Given the description of an element on the screen output the (x, y) to click on. 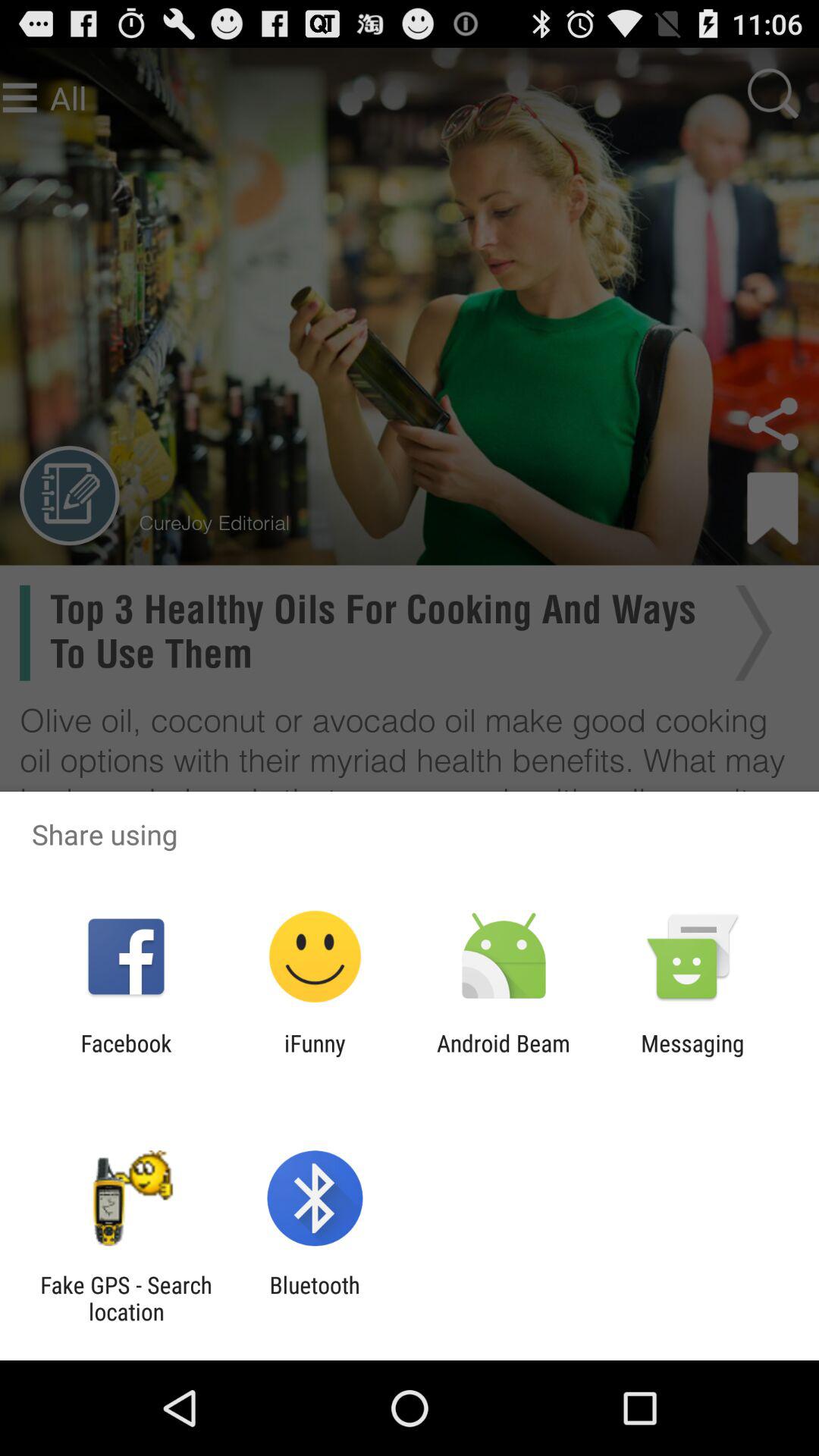
swipe until the messaging (692, 1056)
